Given the description of an element on the screen output the (x, y) to click on. 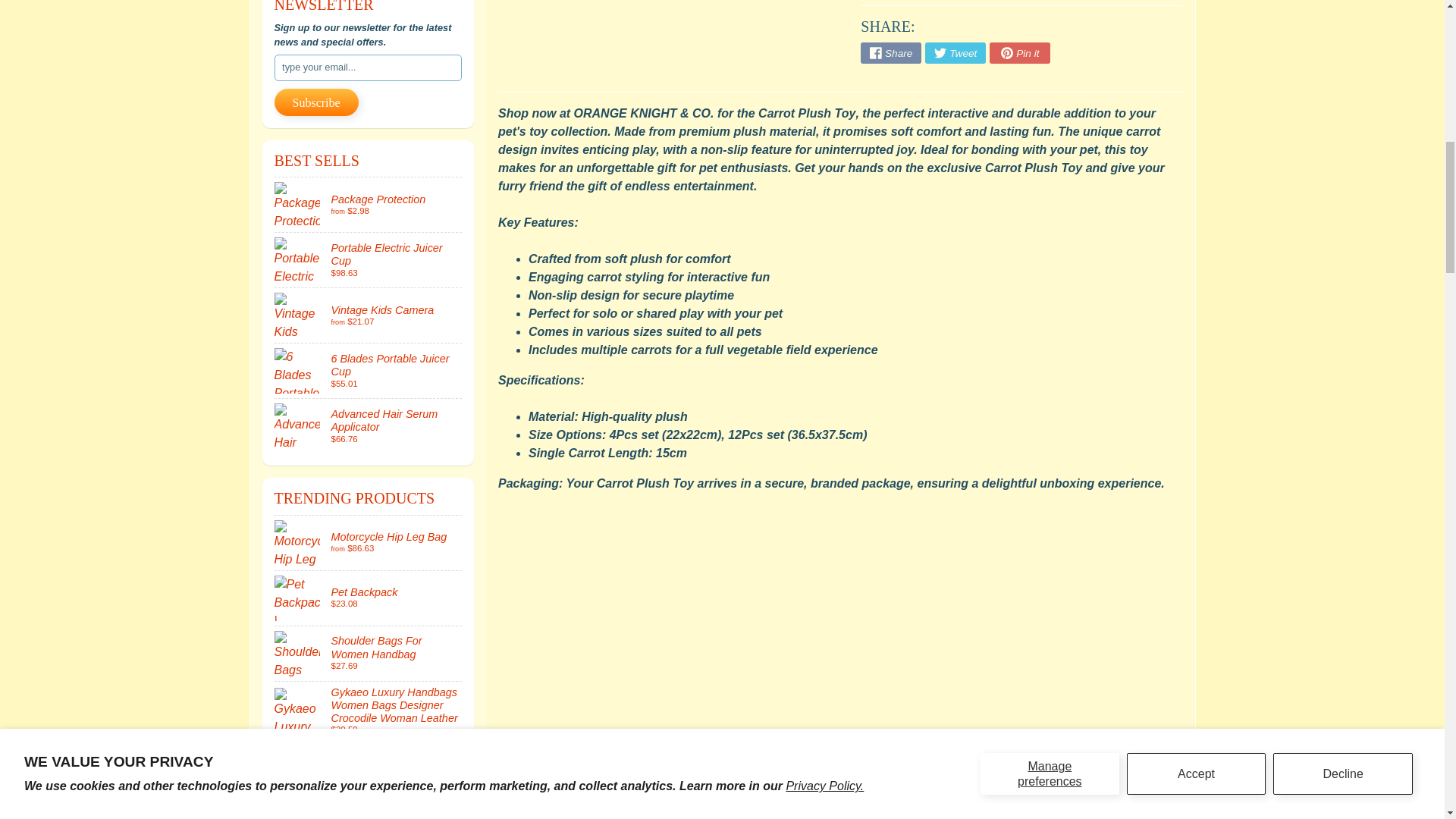
Package Protection (369, 204)
Portable Electric Juicer Cup (369, 259)
Motorcycle Hip Leg Bag (369, 542)
Vintage Kids Camera (369, 315)
Shoulder Bags For Women Handbag (369, 653)
Pet Backpack (369, 597)
6 Blades Portable Juicer Cup (369, 370)
Advanced Hair Serum Applicator (369, 425)
